Given the description of an element on the screen output the (x, y) to click on. 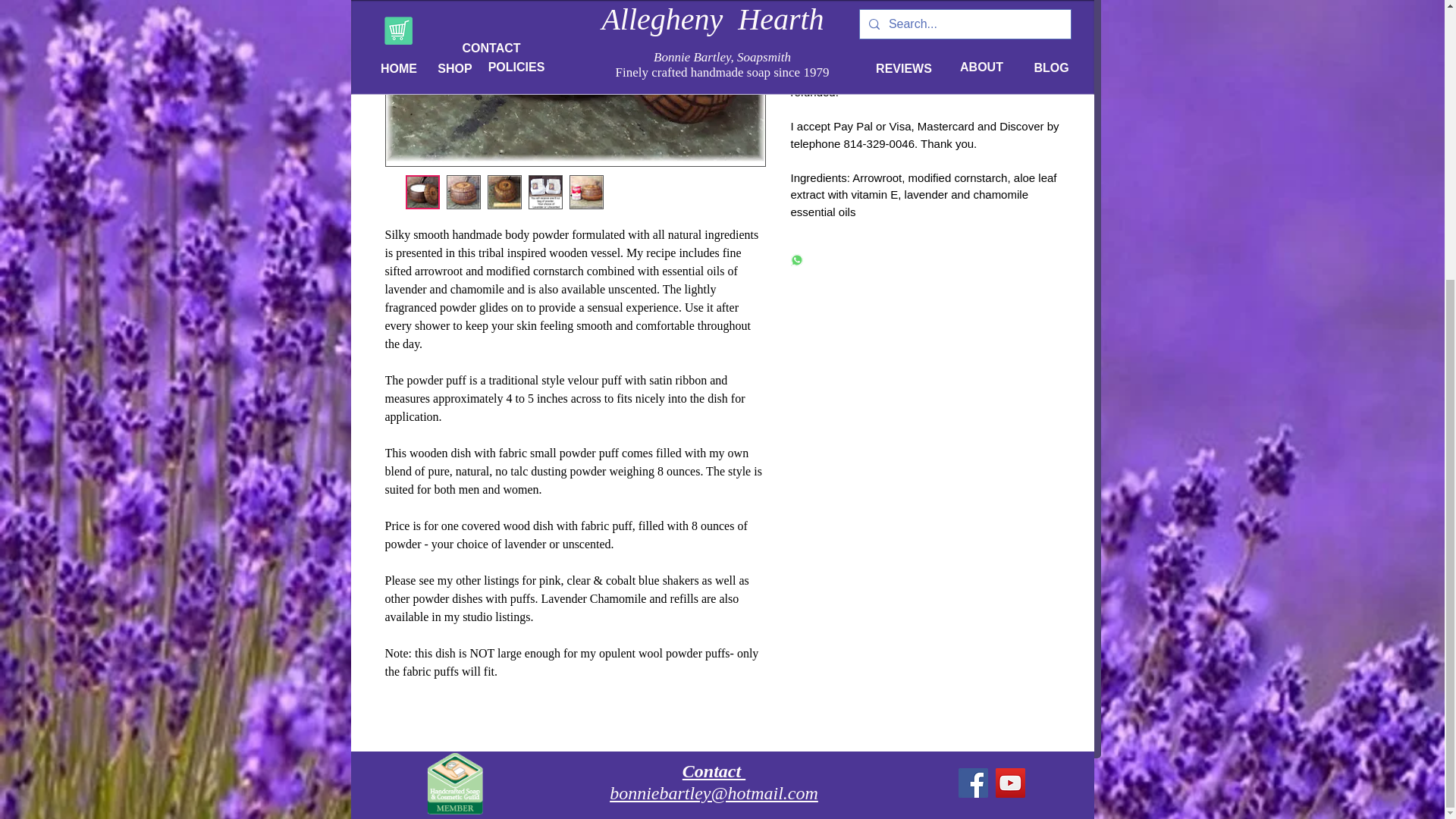
Details (924, 12)
Contact  (713, 771)
